Given the description of an element on the screen output the (x, y) to click on. 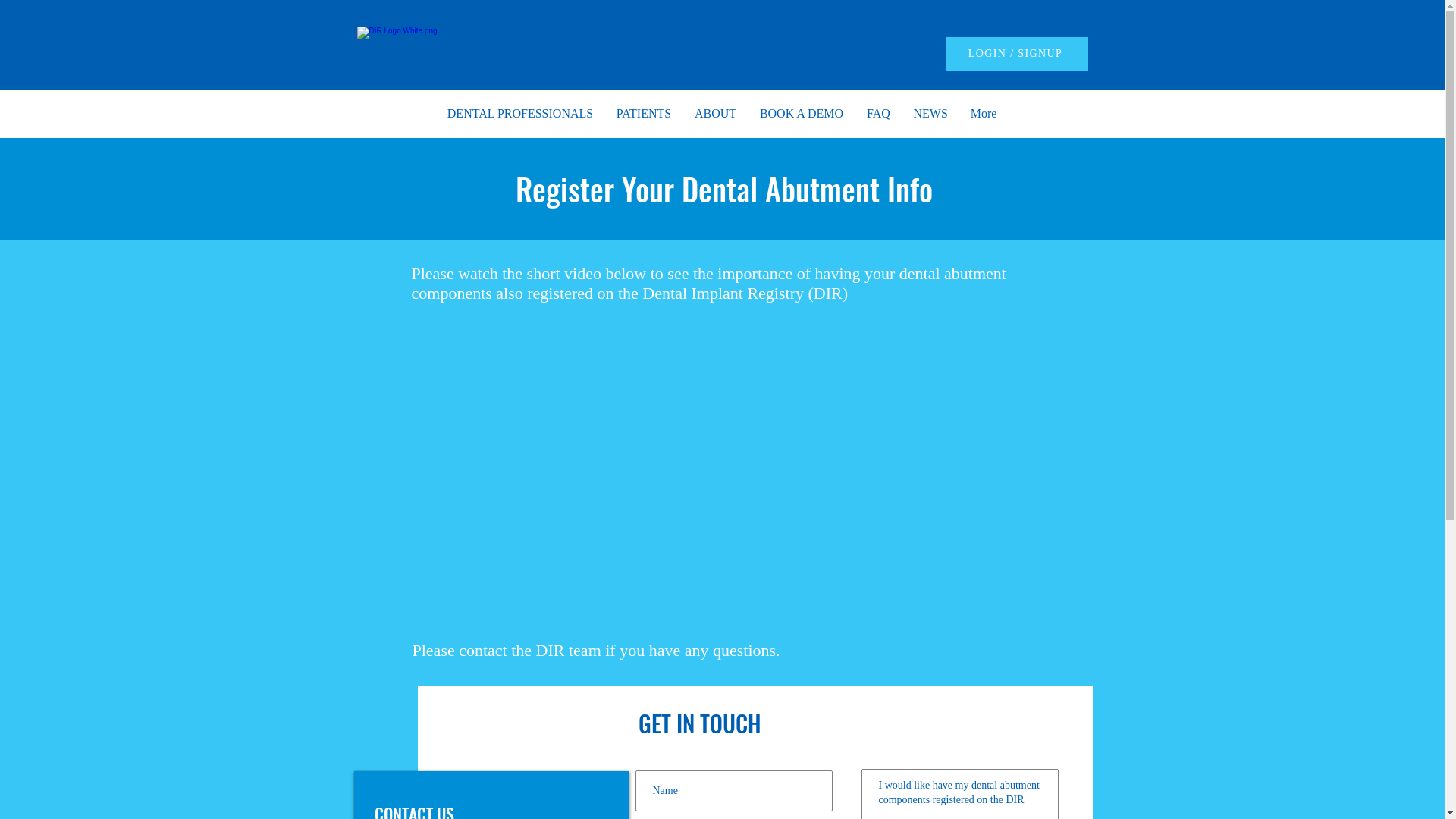
FAQ Element type: text (878, 113)
LOGIN / SIGNUP Element type: text (1017, 53)
BOOK A DEMO Element type: text (800, 113)
ABOUT Element type: text (714, 113)
PATIENTS Element type: text (644, 113)
DENTAL PROFESSIONALS Element type: text (519, 113)
NEWS Element type: text (930, 113)
